Given the description of an element on the screen output the (x, y) to click on. 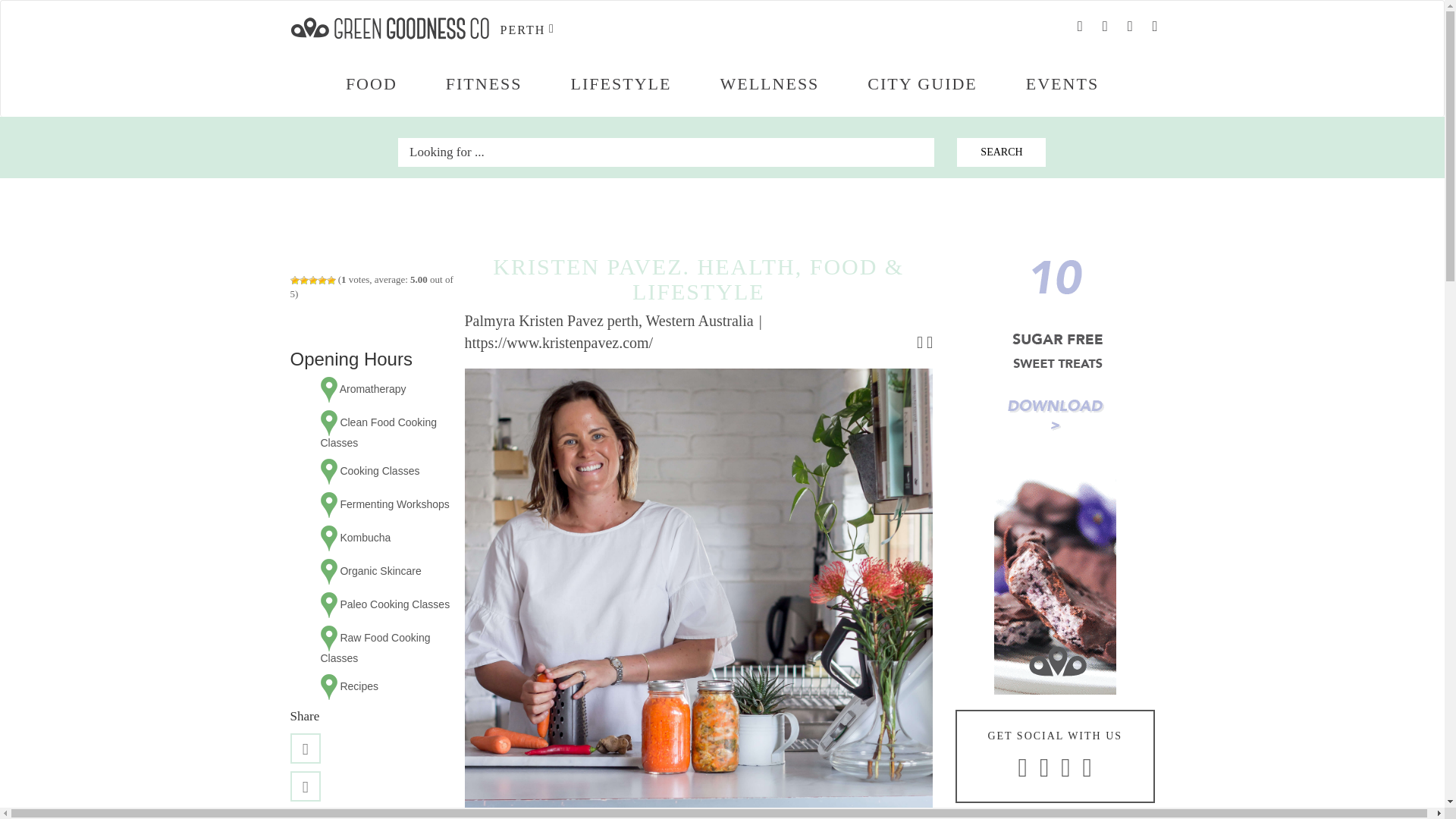
3 Stars (312, 280)
LIFESTYLE (621, 84)
Search (1000, 152)
5 Stars (330, 280)
2 Stars (302, 280)
4 Stars (321, 280)
Search (1000, 152)
WELLNESS (769, 84)
FITNESS (483, 84)
1 Star (293, 280)
FOOD (370, 84)
